Given the description of an element on the screen output the (x, y) to click on. 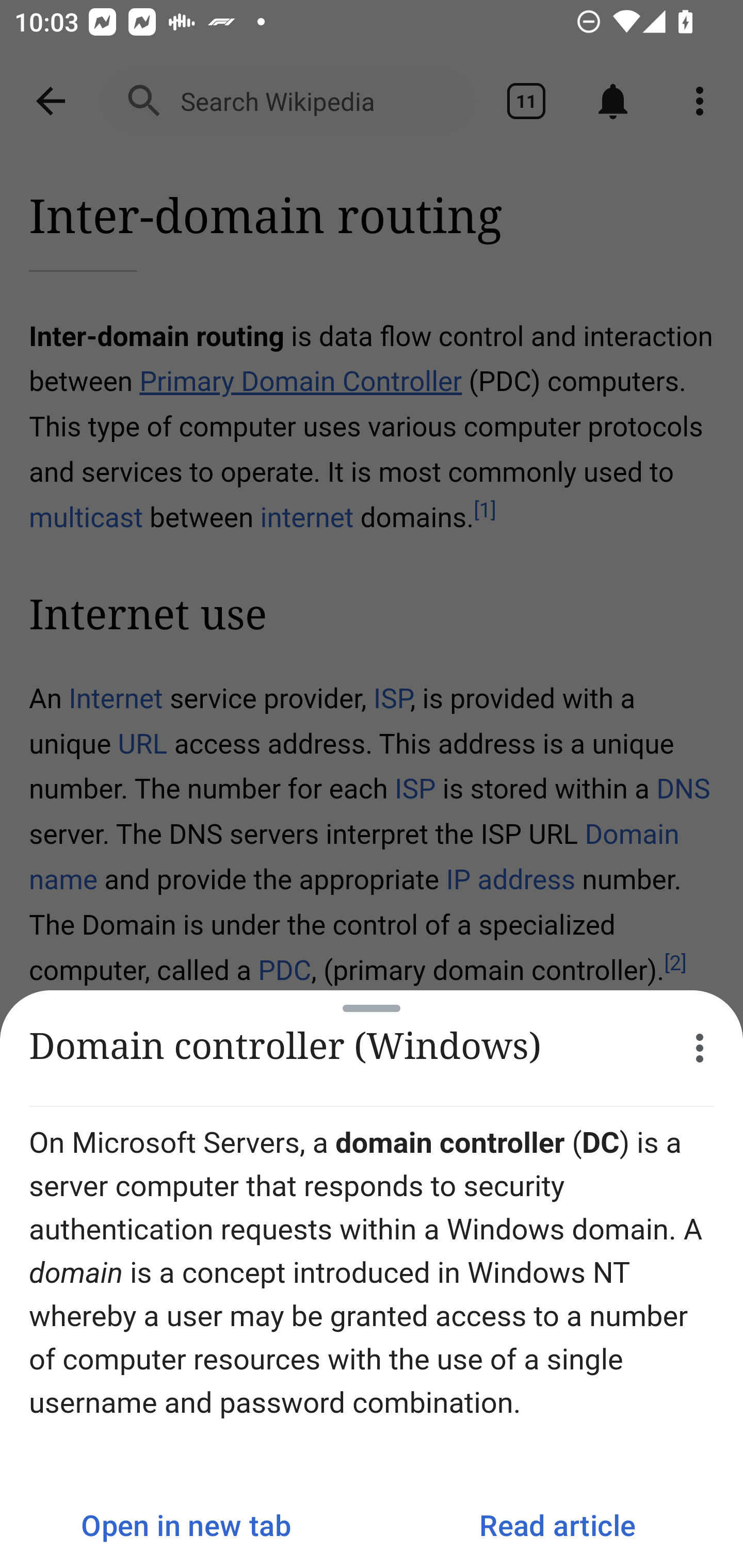
Domain controller (Windows) More options (371, 1047)
More options (699, 1048)
Open in new tab (185, 1524)
Read article (557, 1524)
